Given the description of an element on the screen output the (x, y) to click on. 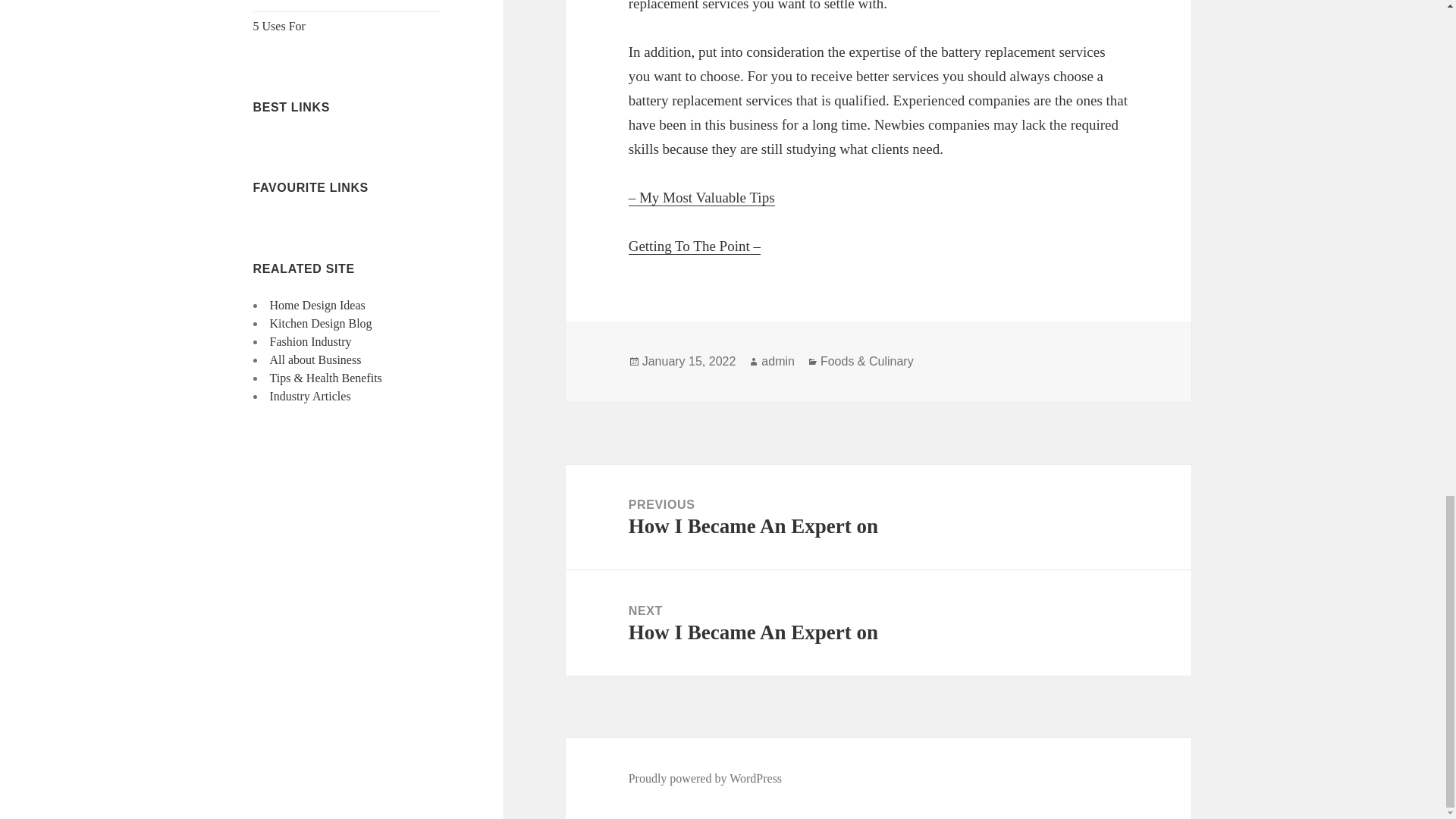
5 Uses For (279, 25)
Fashion Industry (310, 341)
All about Business (315, 359)
Industry Articles (309, 395)
Kitchen Design Blog (320, 323)
Home Design Ideas (317, 305)
